Given the description of an element on the screen output the (x, y) to click on. 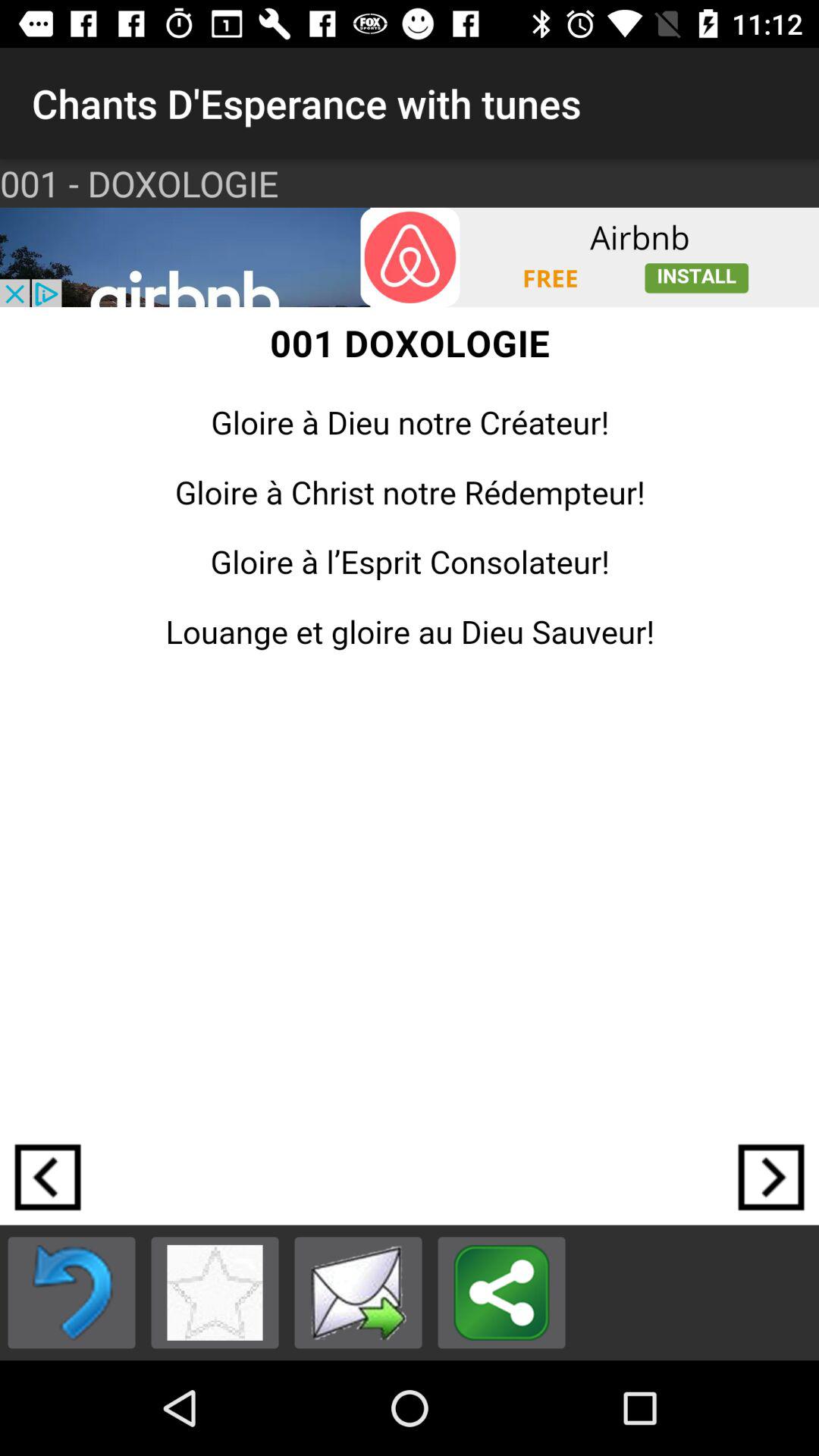
add to favorites (214, 1292)
